Given the description of an element on the screen output the (x, y) to click on. 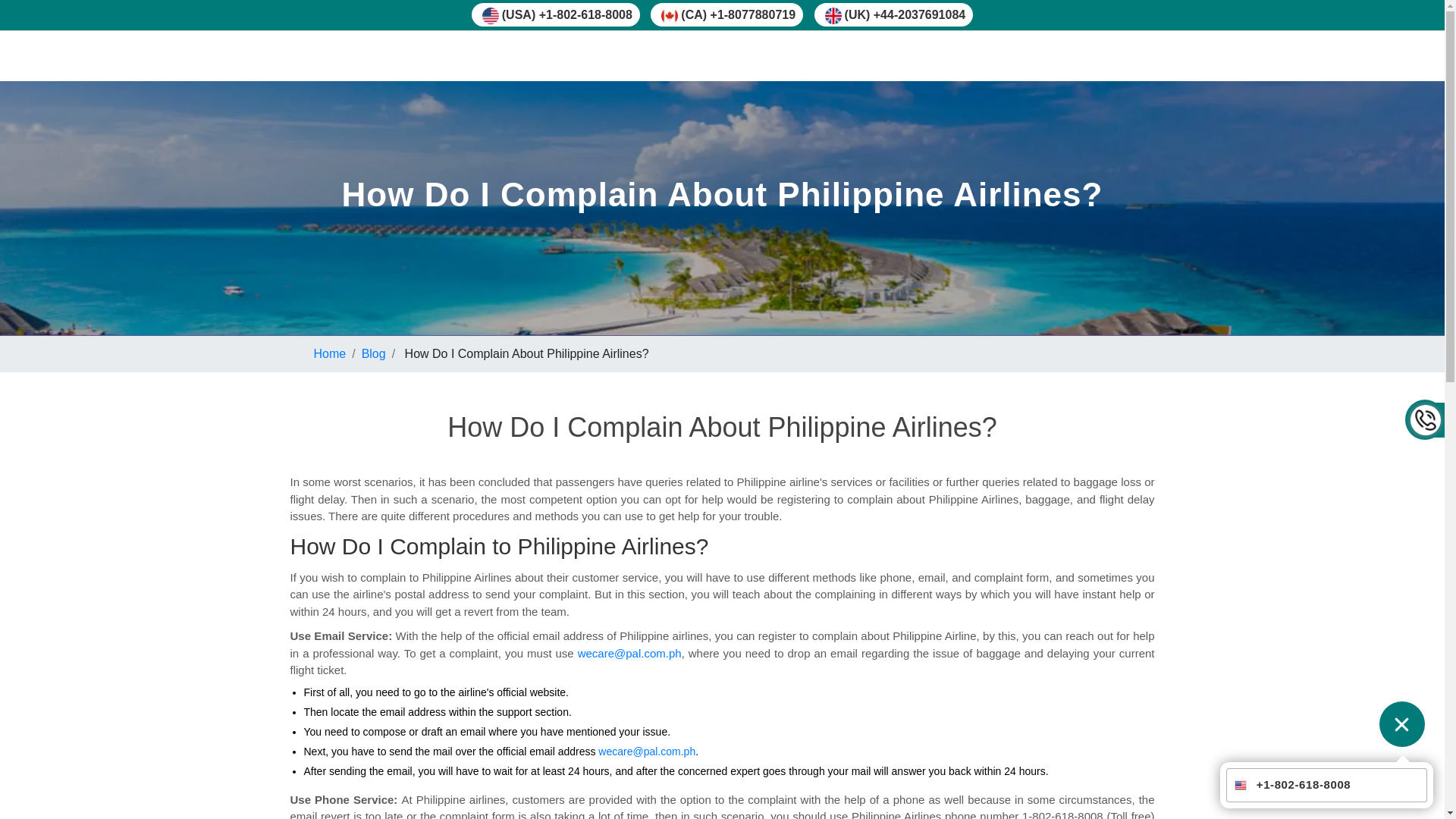
Home (330, 353)
Blog (373, 353)
